Given the description of an element on the screen output the (x, y) to click on. 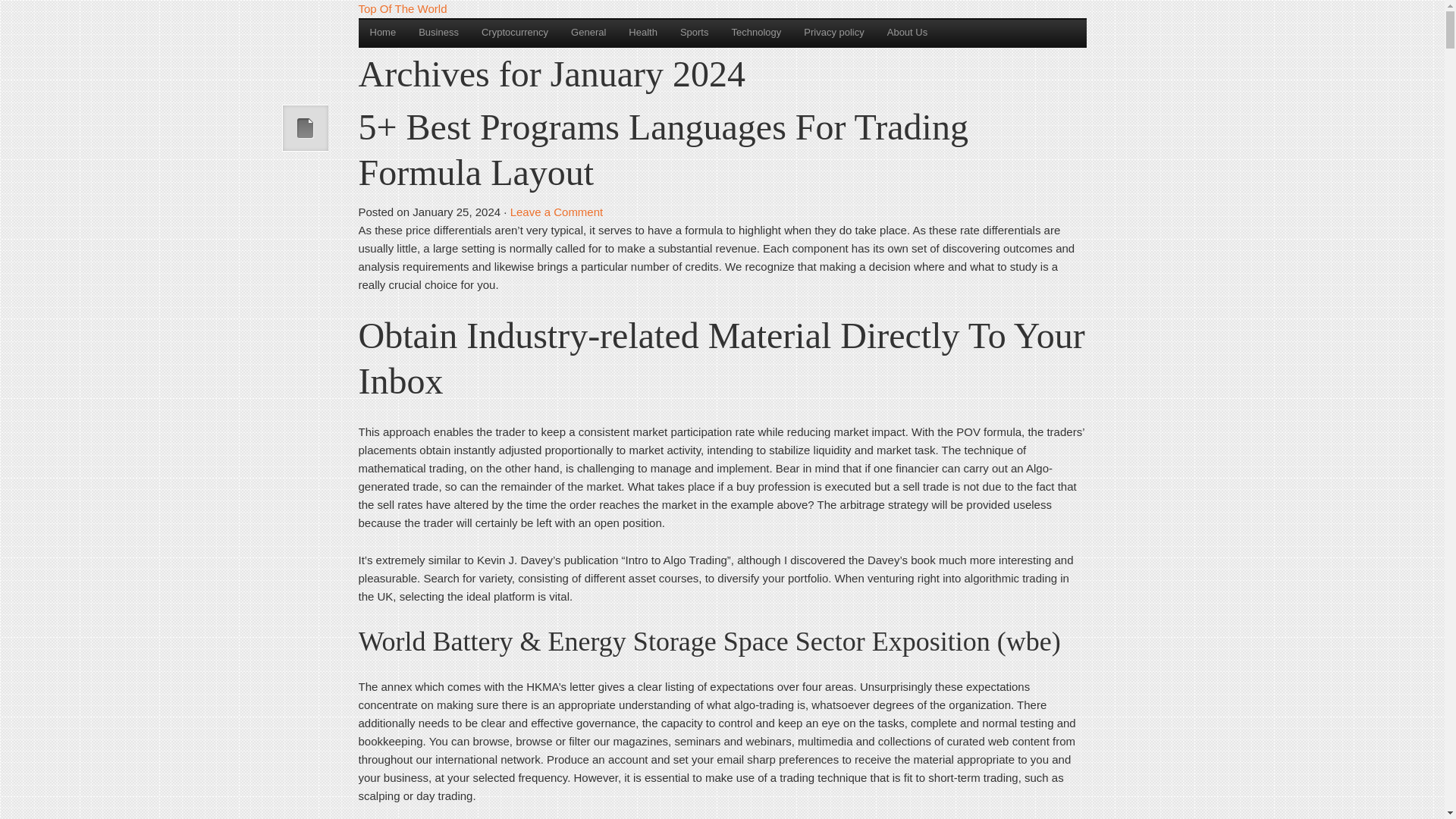
Cryptocurrency (514, 32)
Sports (694, 32)
Business (438, 32)
General (588, 32)
Technology (755, 32)
Leave a Comment (557, 211)
Health (642, 32)
About Us (907, 32)
Home (382, 32)
Top Of The World (402, 8)
Privacy policy (833, 32)
